Given the description of an element on the screen output the (x, y) to click on. 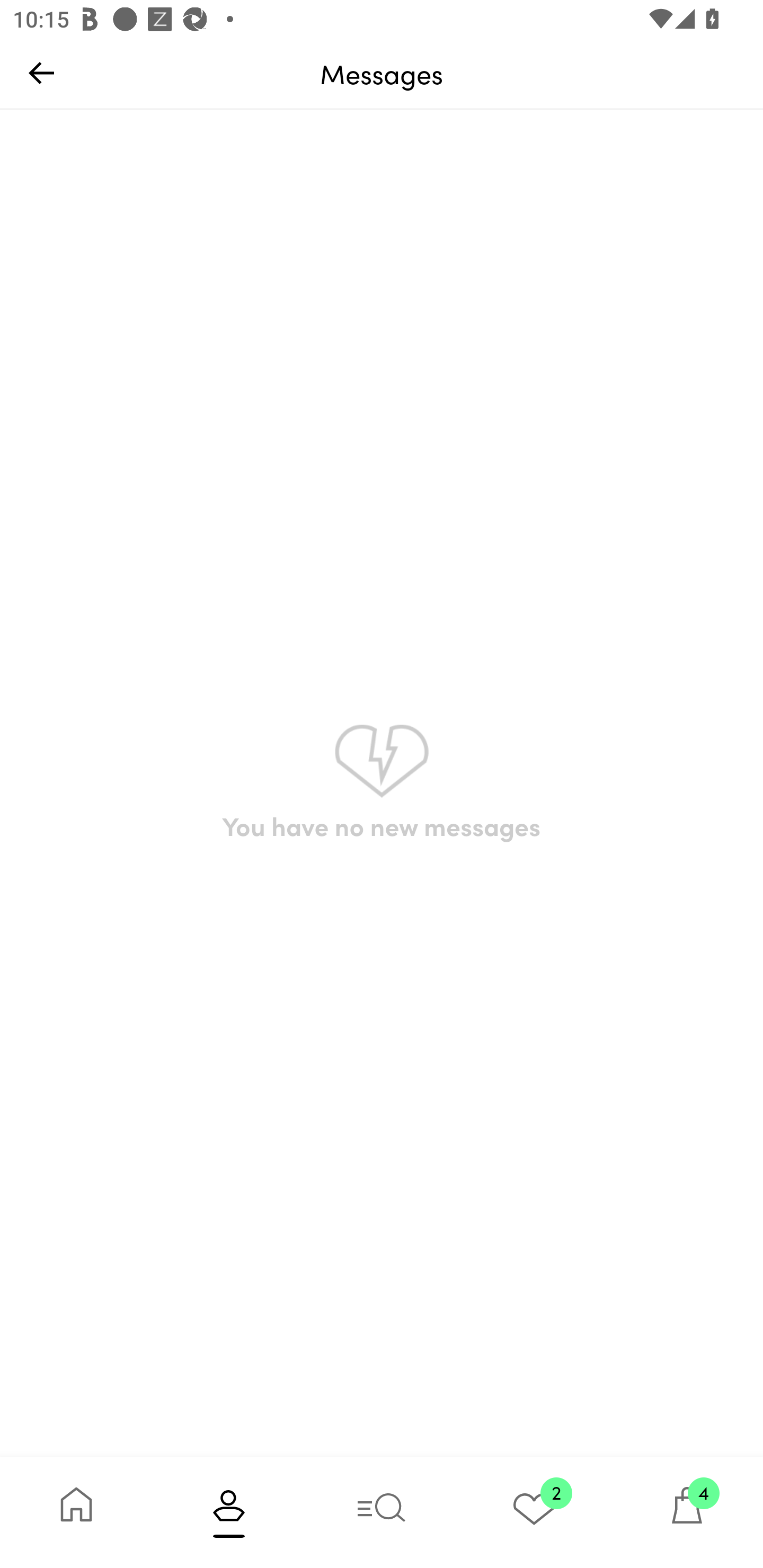
2 (533, 1512)
4 (686, 1512)
